Given the description of an element on the screen output the (x, y) to click on. 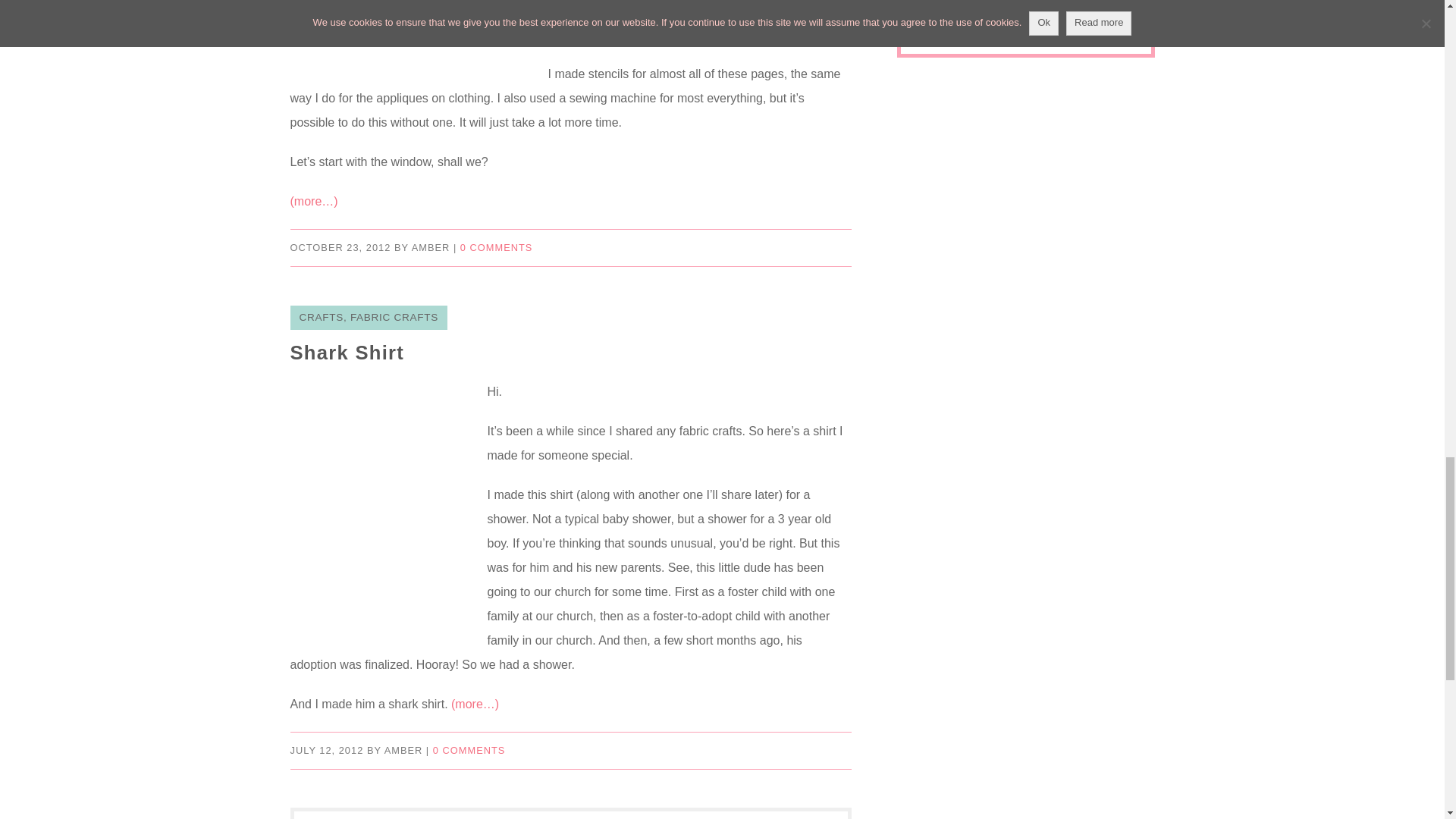
0 COMMENTS (496, 247)
busy book window (410, 33)
Shark Shirt (346, 352)
0 COMMENTS (468, 749)
FABRIC CRAFTS (394, 317)
CRAFTS (320, 317)
